Given the description of an element on the screen output the (x, y) to click on. 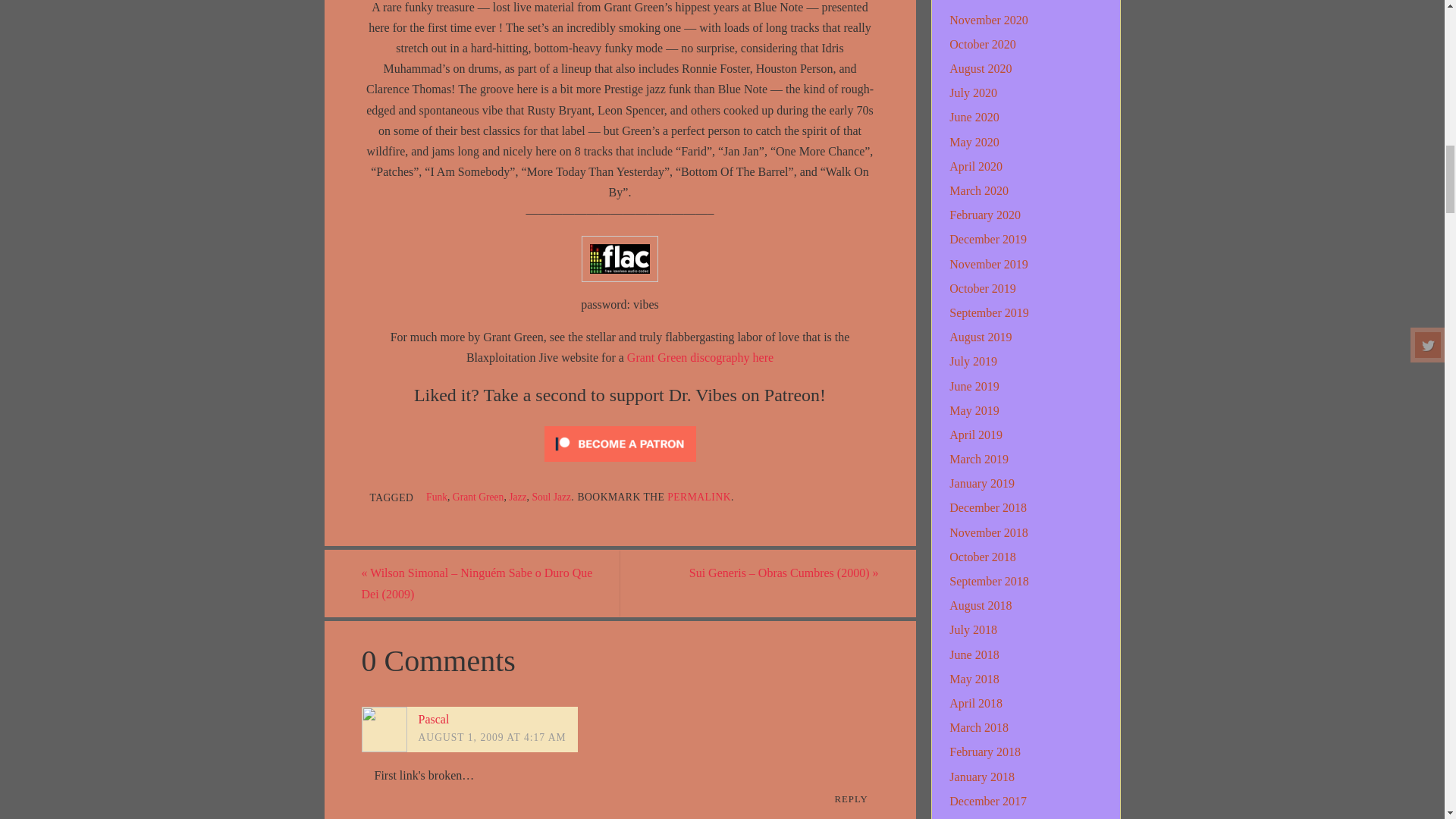
REPLY (851, 799)
Funk (436, 496)
AUGUST 1, 2009 AT 4:17 AM (492, 737)
Grant Green (477, 496)
Pascal (434, 718)
Soul Jazz (550, 496)
PERMALINK (698, 496)
Grant Green discography here (698, 357)
Jazz (516, 496)
